Given the description of an element on the screen output the (x, y) to click on. 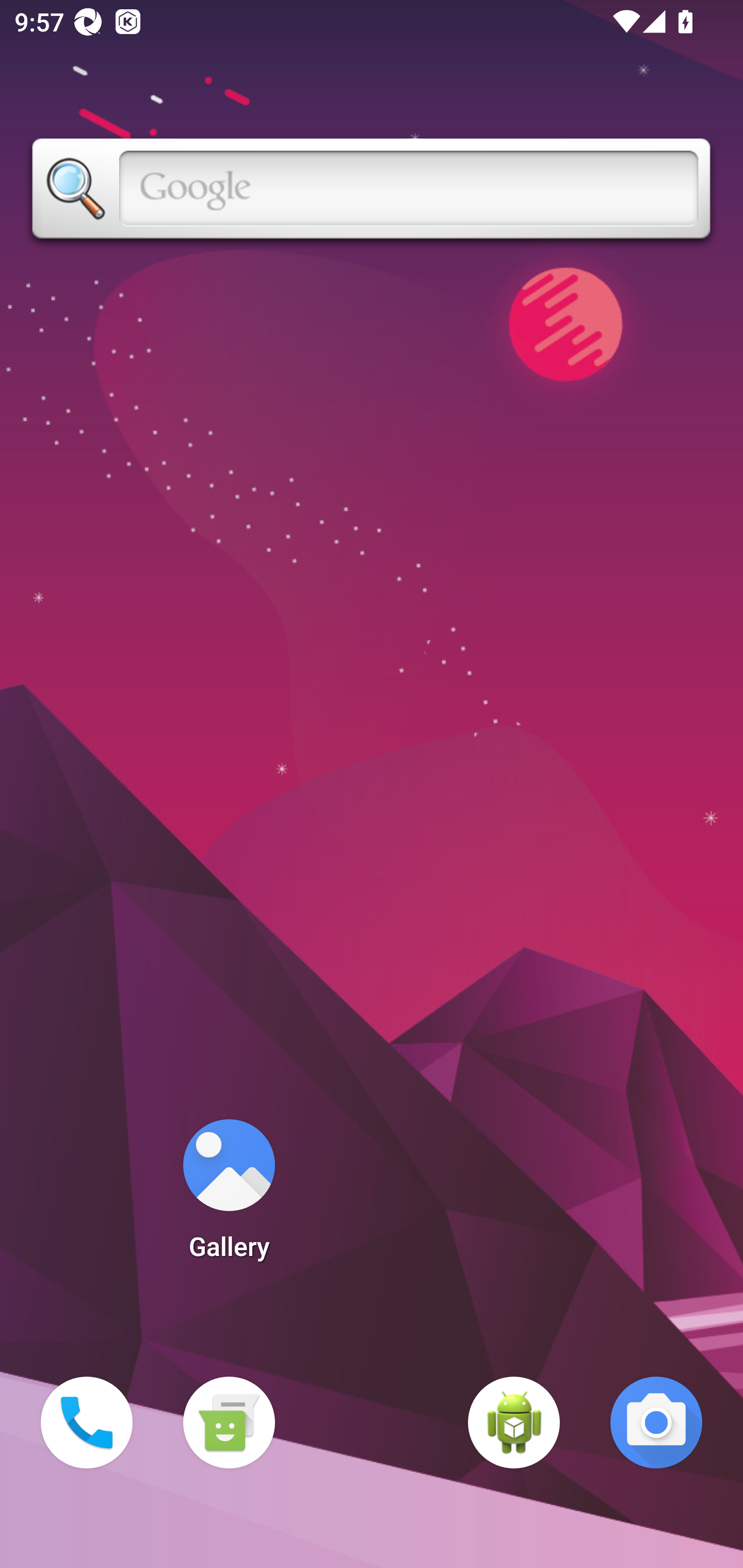
Gallery (228, 1195)
Phone (86, 1422)
Messaging (228, 1422)
WebView Browser Tester (513, 1422)
Camera (656, 1422)
